Given the description of an element on the screen output the (x, y) to click on. 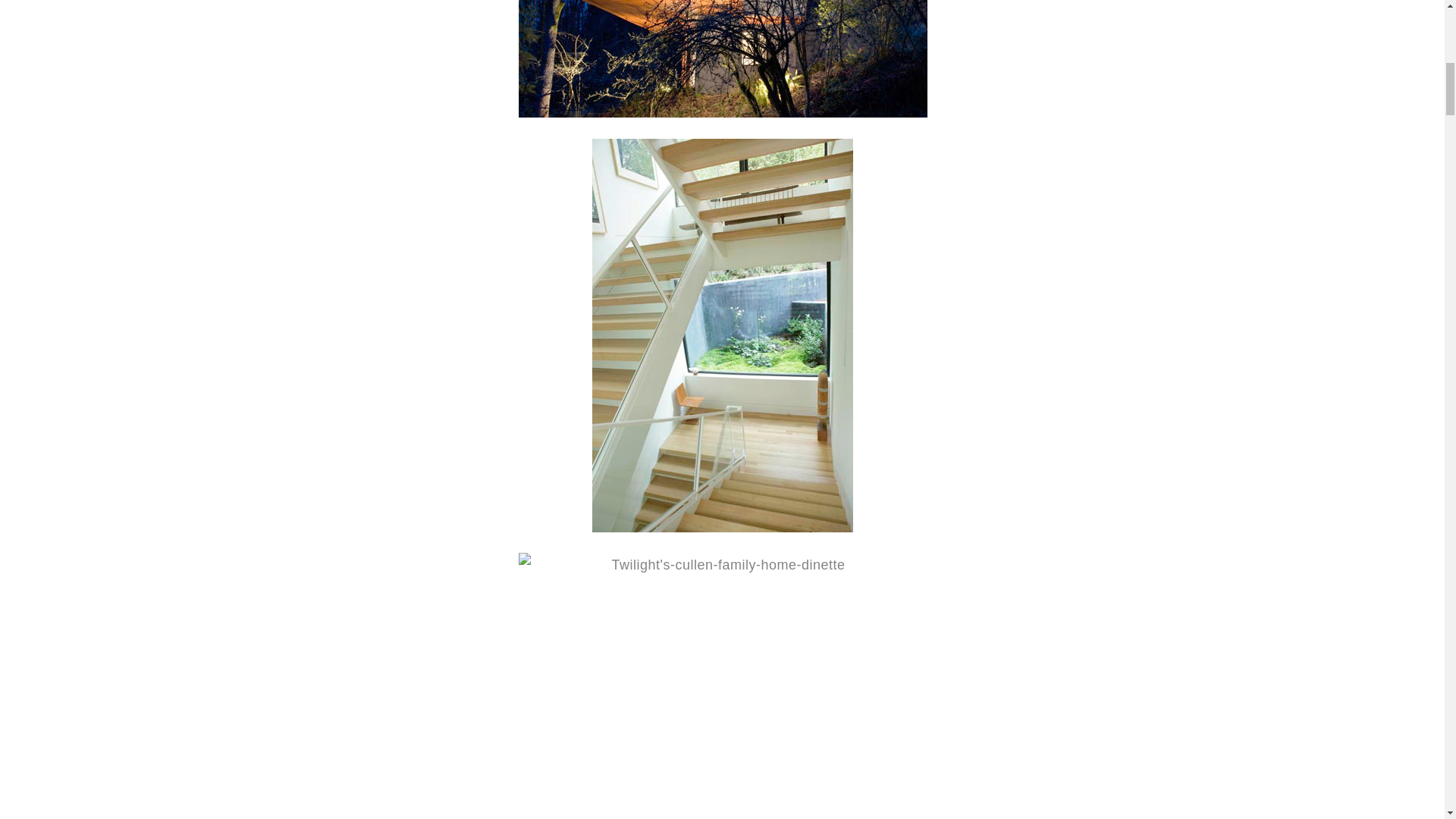
Twilight's-cullen-family-home (721, 58)
Twilight's-cullen-family-home-dinette (722, 685)
